Given the description of an element on the screen output the (x, y) to click on. 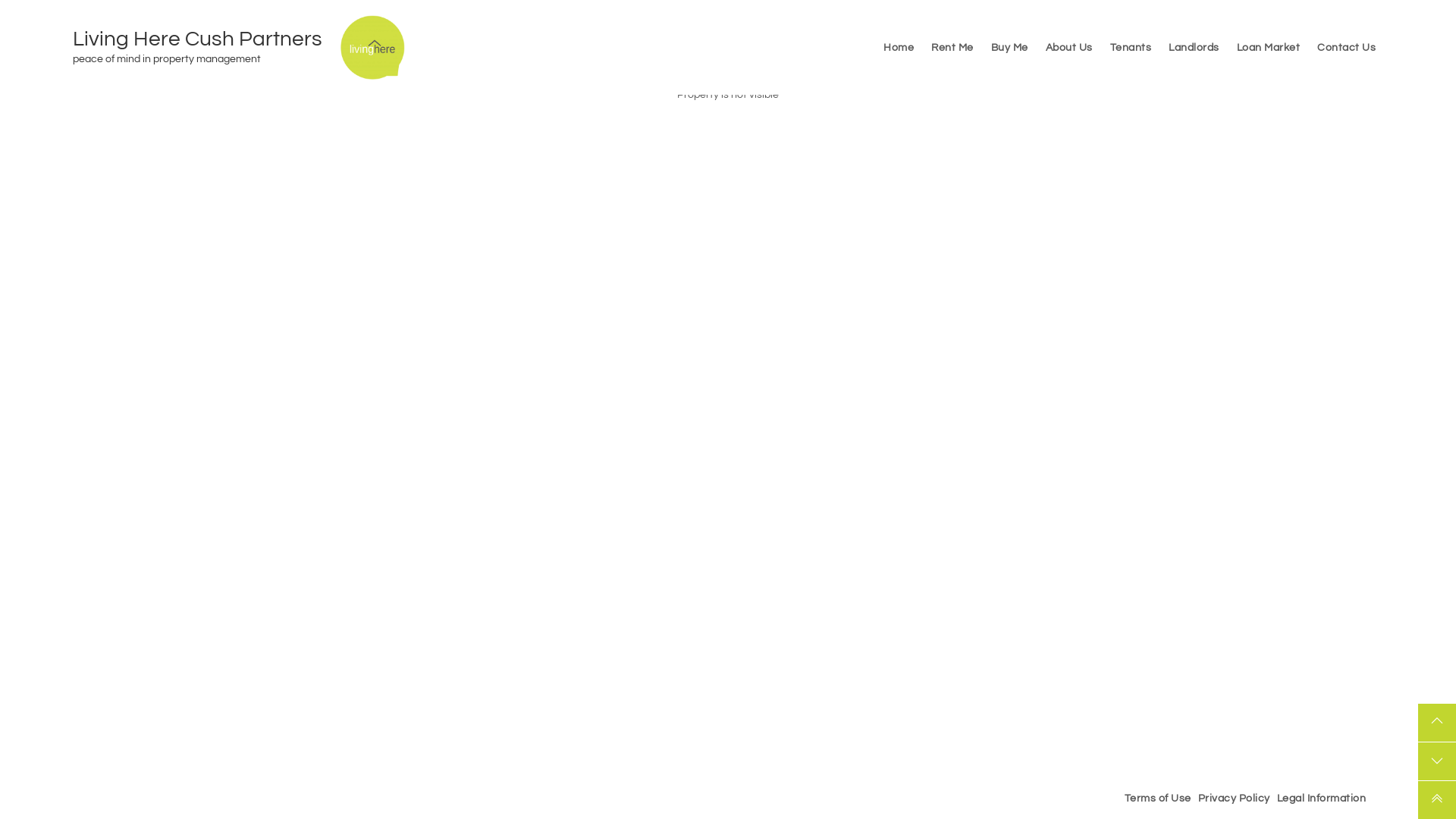
Terms of Use Element type: text (1157, 798)
Loan Market Element type: text (1267, 46)
Rent Me Element type: text (952, 46)
Landlords Element type: text (1193, 46)
Privacy Policy Element type: text (1233, 798)
Buy Me Element type: text (1008, 46)
Contact Us Element type: text (1346, 46)
Legal Information Element type: text (1321, 798)
About Us Element type: text (1068, 46)
Tenants Element type: text (1130, 46)
Home Element type: text (898, 46)
